Given the description of an element on the screen output the (x, y) to click on. 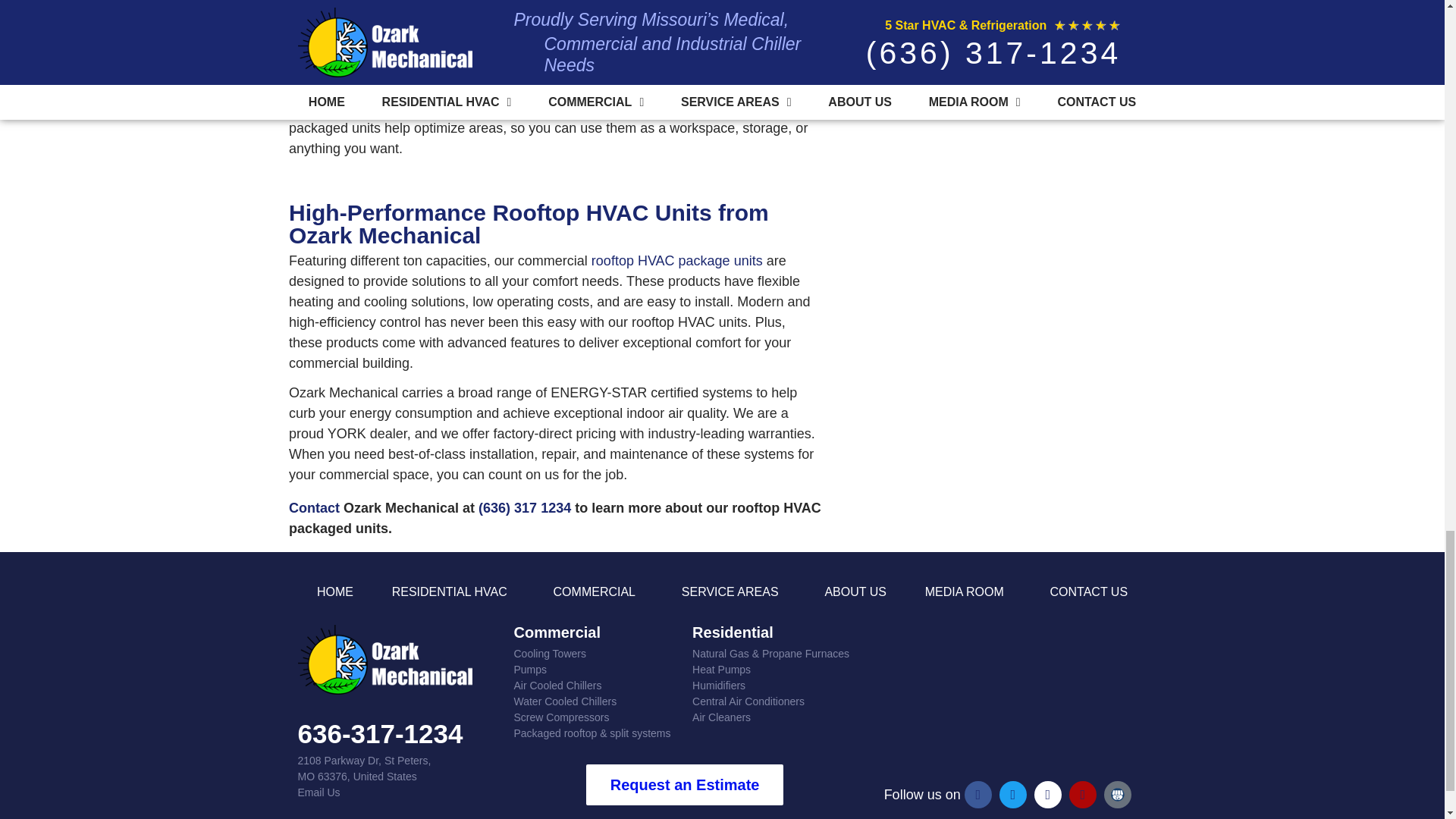
Ozark Mechanical (1007, 694)
